Given the description of an element on the screen output the (x, y) to click on. 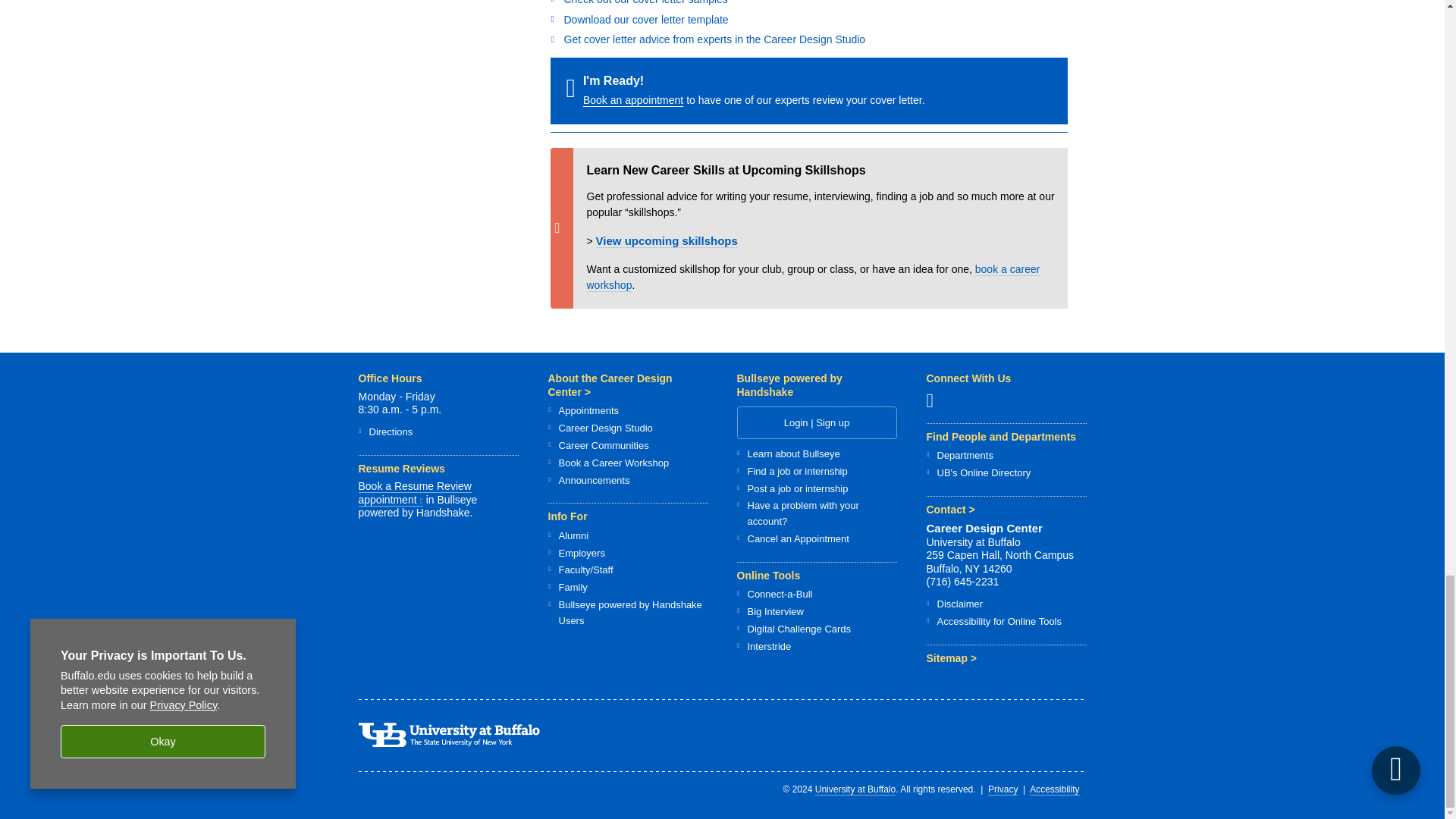
This link opens a page in a new window or tab. (414, 492)
UB Career Design Center Instagram (936, 400)
This link opens a page in a new window or tab. (421, 500)
